Given the description of an element on the screen output the (x, y) to click on. 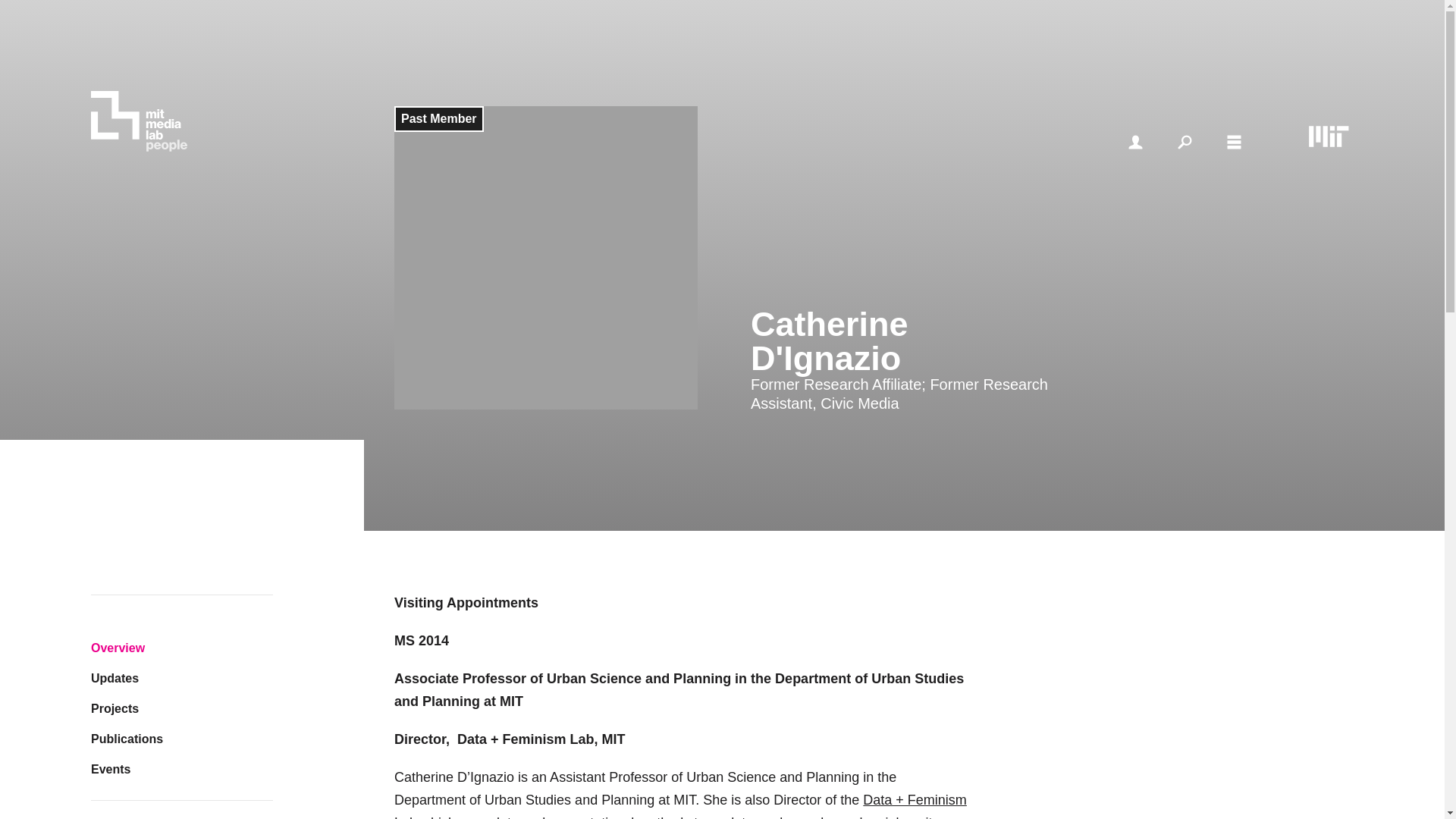
Overview (181, 648)
Updates (181, 678)
Projects (181, 708)
Events (181, 769)
Publications (181, 739)
